Given the description of an element on the screen output the (x, y) to click on. 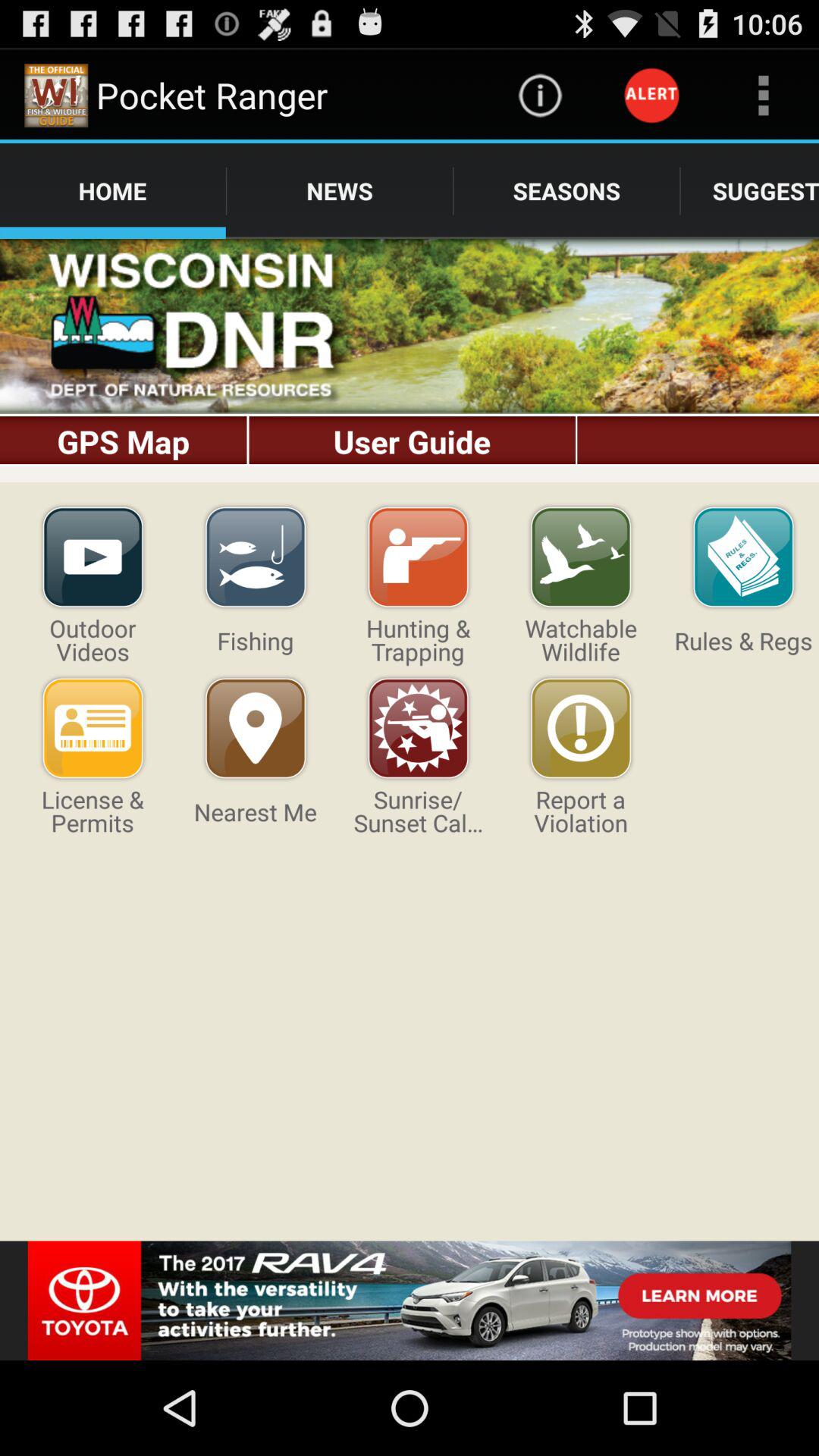
go to home (409, 360)
